Given the description of an element on the screen output the (x, y) to click on. 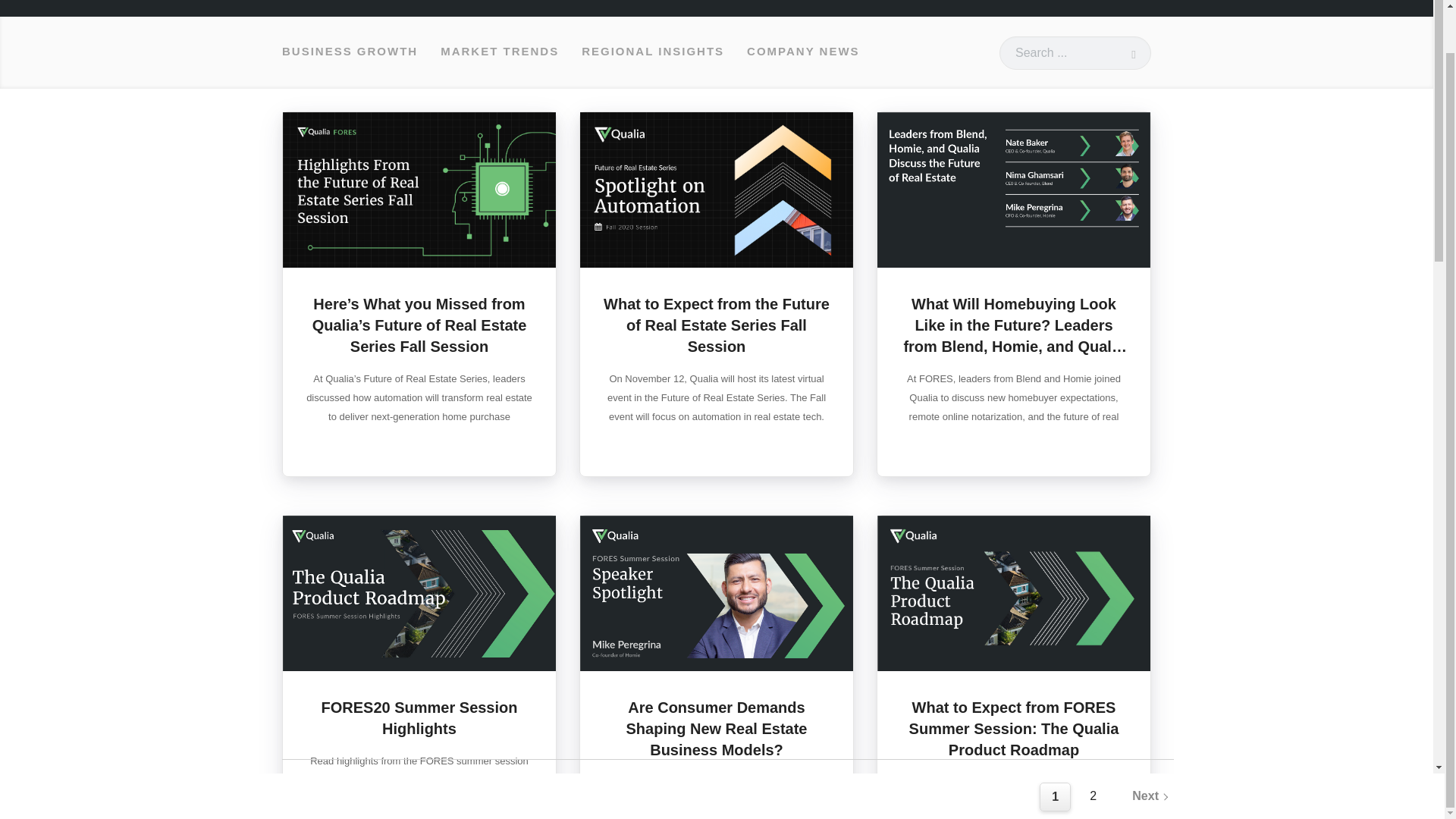
MARKET TRENDS (499, 51)
REGIONAL INSIGHTS (652, 51)
COMPANY NEWS (802, 51)
BUSINESS GROWTH (350, 51)
FORES20 Summer Session Highlights (419, 718)
